Given the description of an element on the screen output the (x, y) to click on. 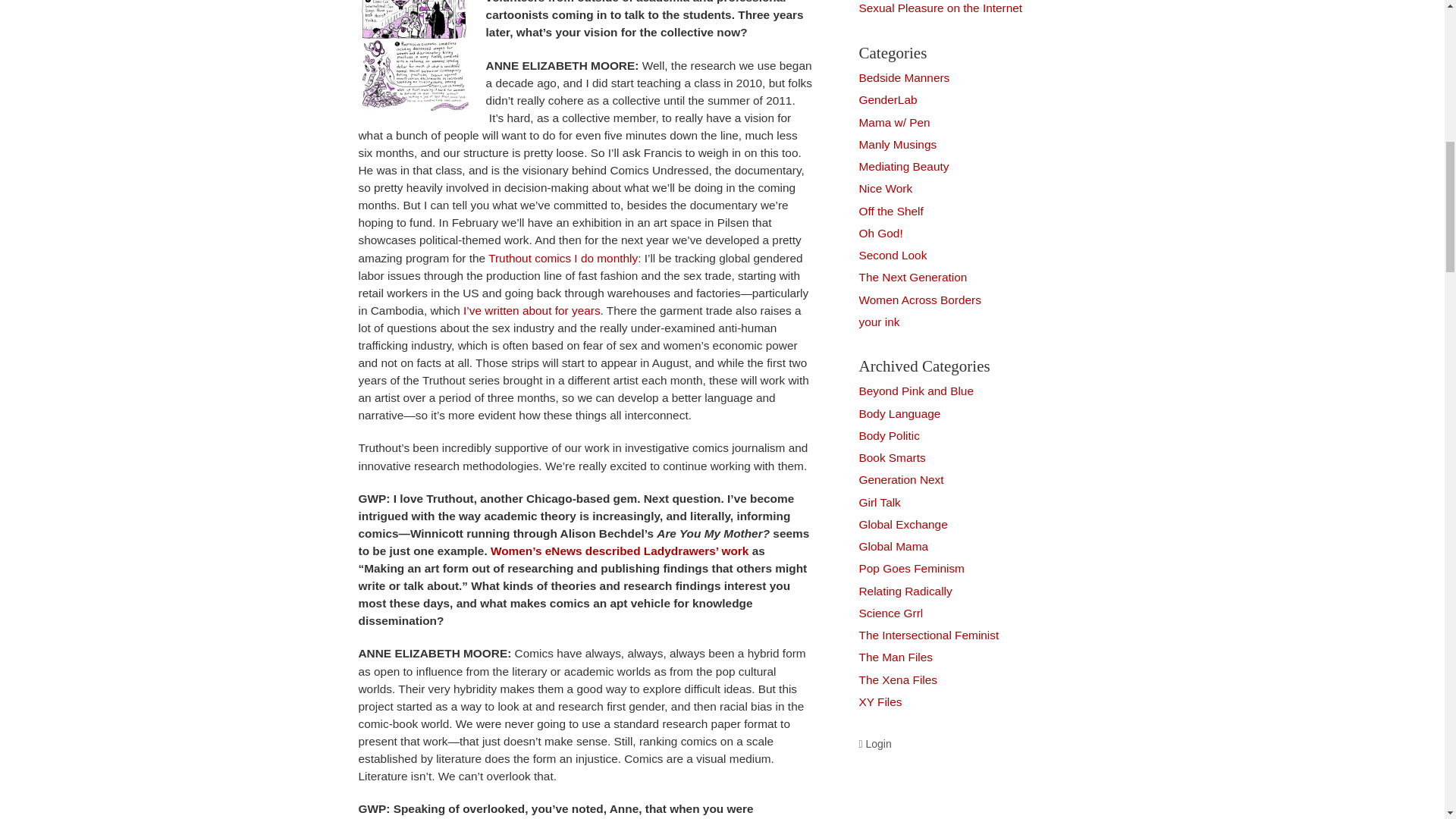
Truthout comics I do monthly (560, 257)
